Given the description of an element on the screen output the (x, y) to click on. 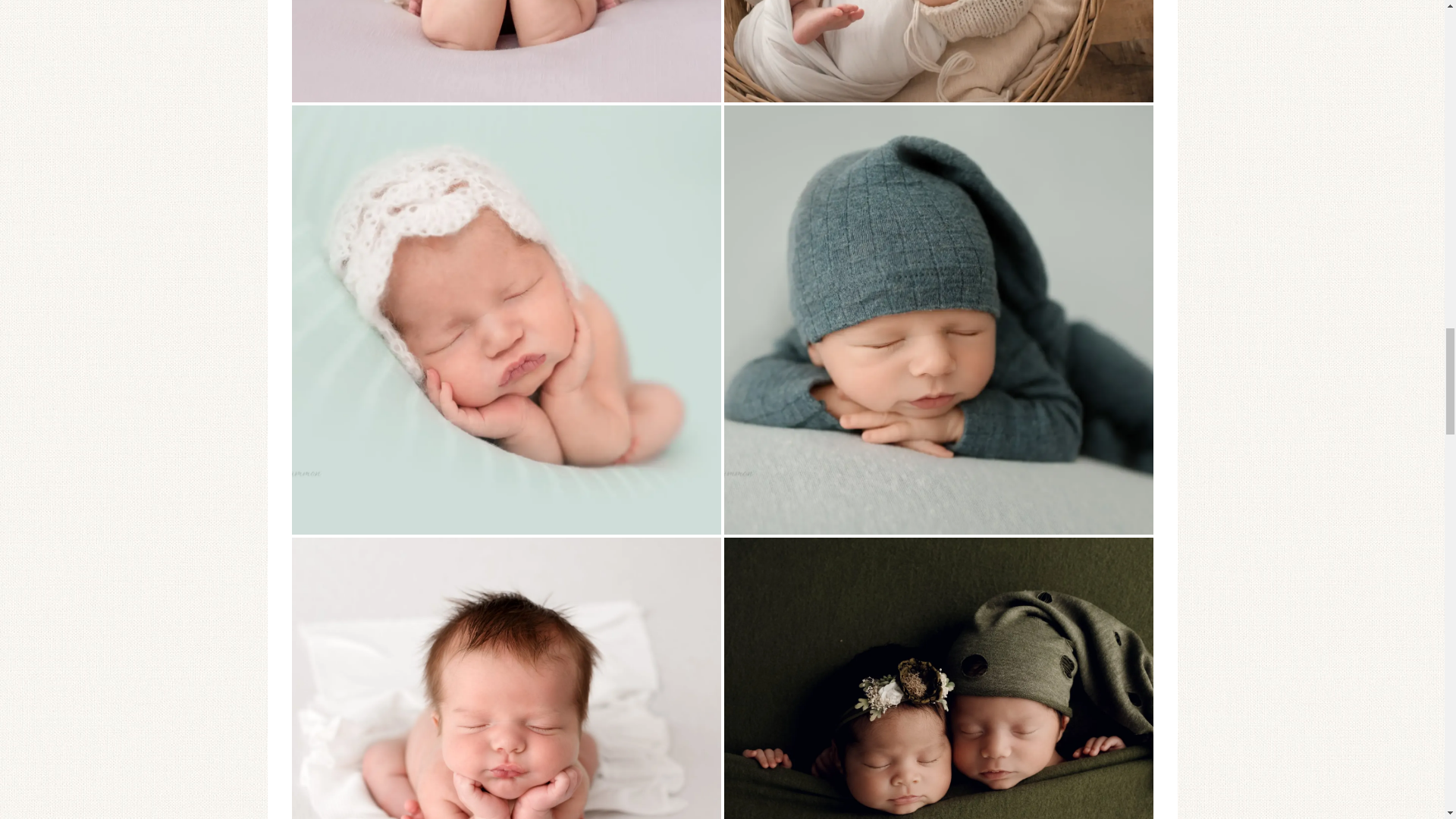
FourBabiesweb-7 (938, 51)
Maelynnfb-1 (505, 51)
Oliverweb-6 (505, 678)
